Given the description of an element on the screen output the (x, y) to click on. 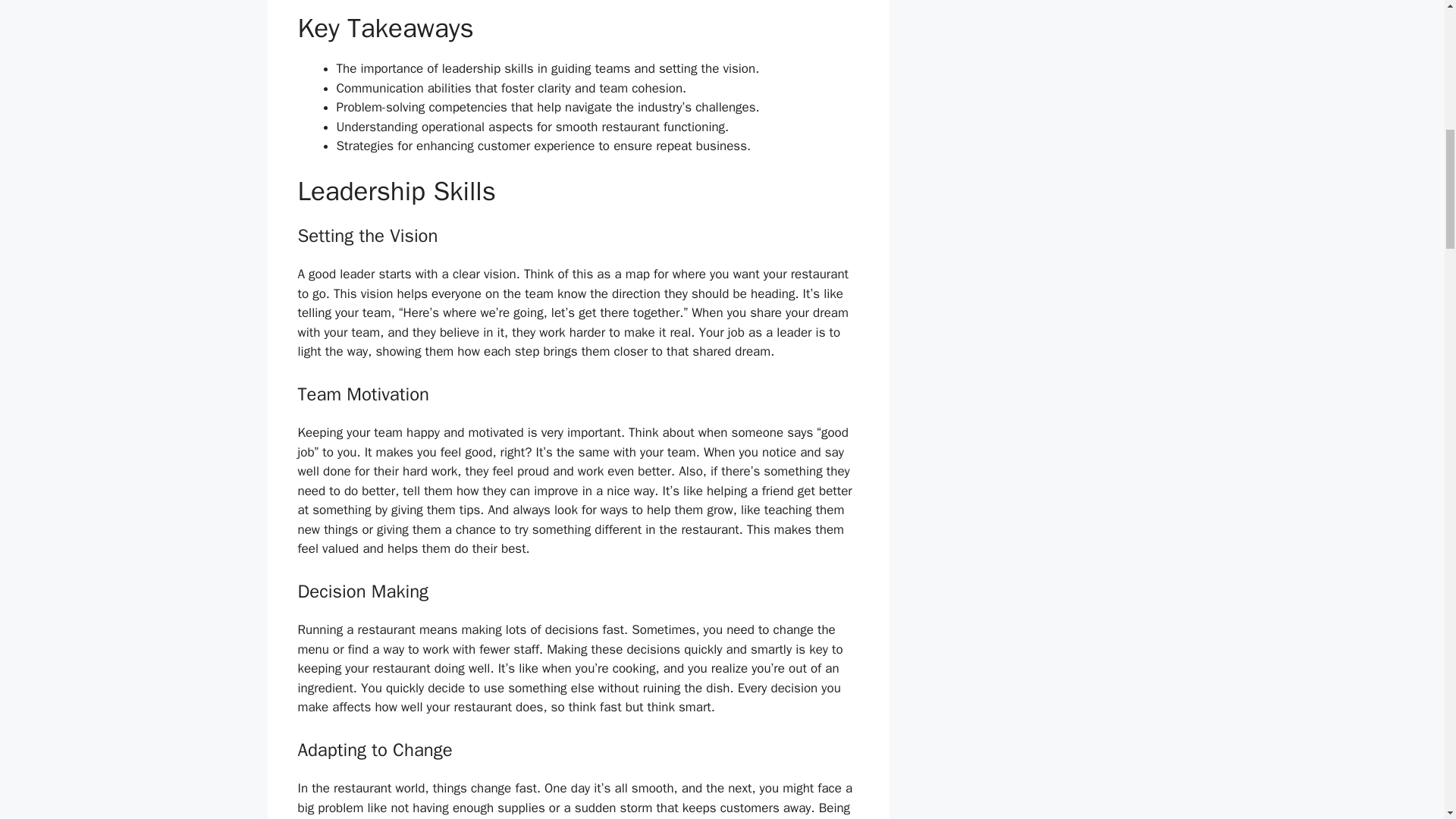
Scroll back to top (1406, 720)
